Given the description of an element on the screen output the (x, y) to click on. 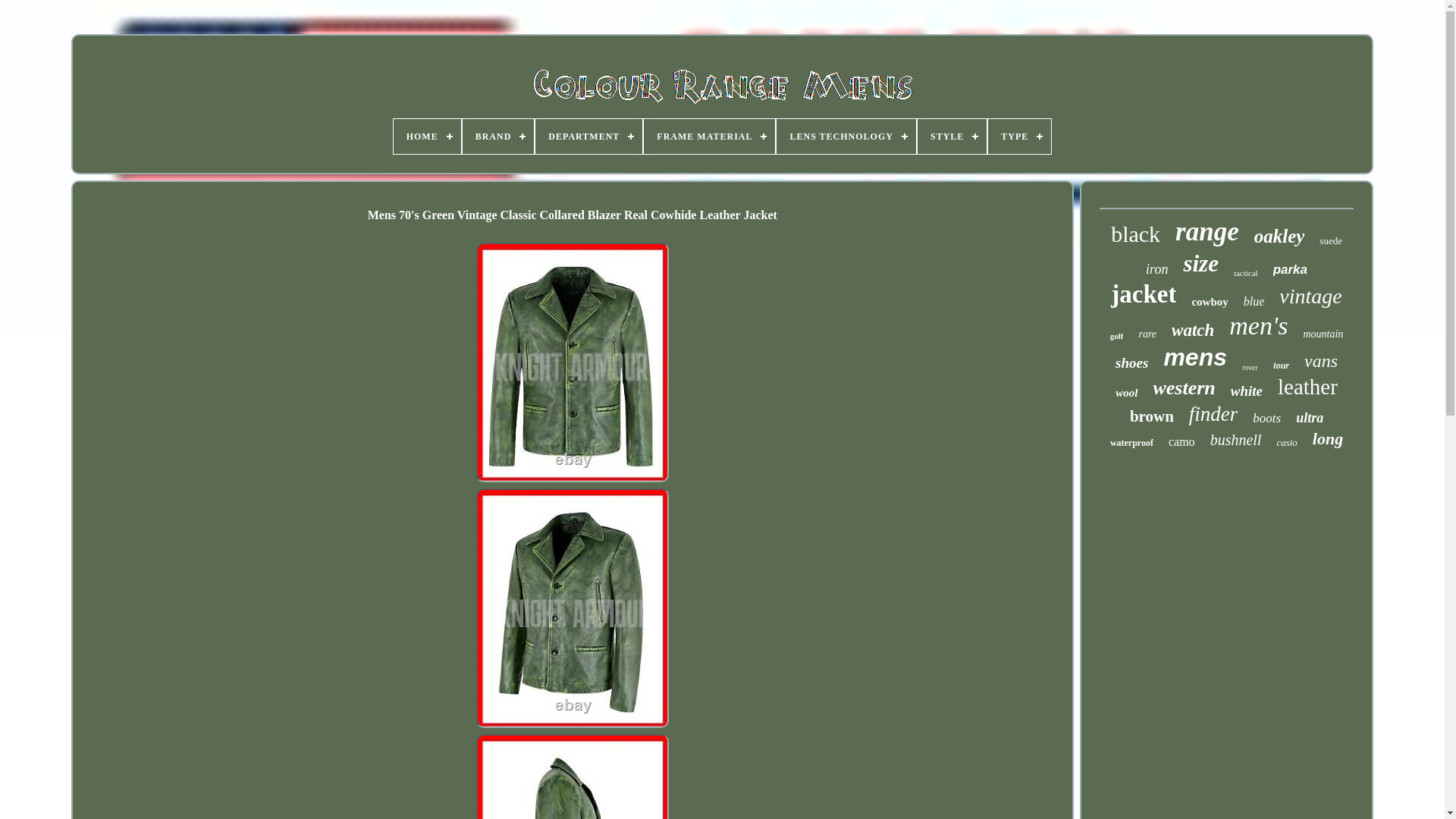
HOME (427, 135)
DEPARTMENT (588, 135)
BRAND (498, 135)
